Given the description of an element on the screen output the (x, y) to click on. 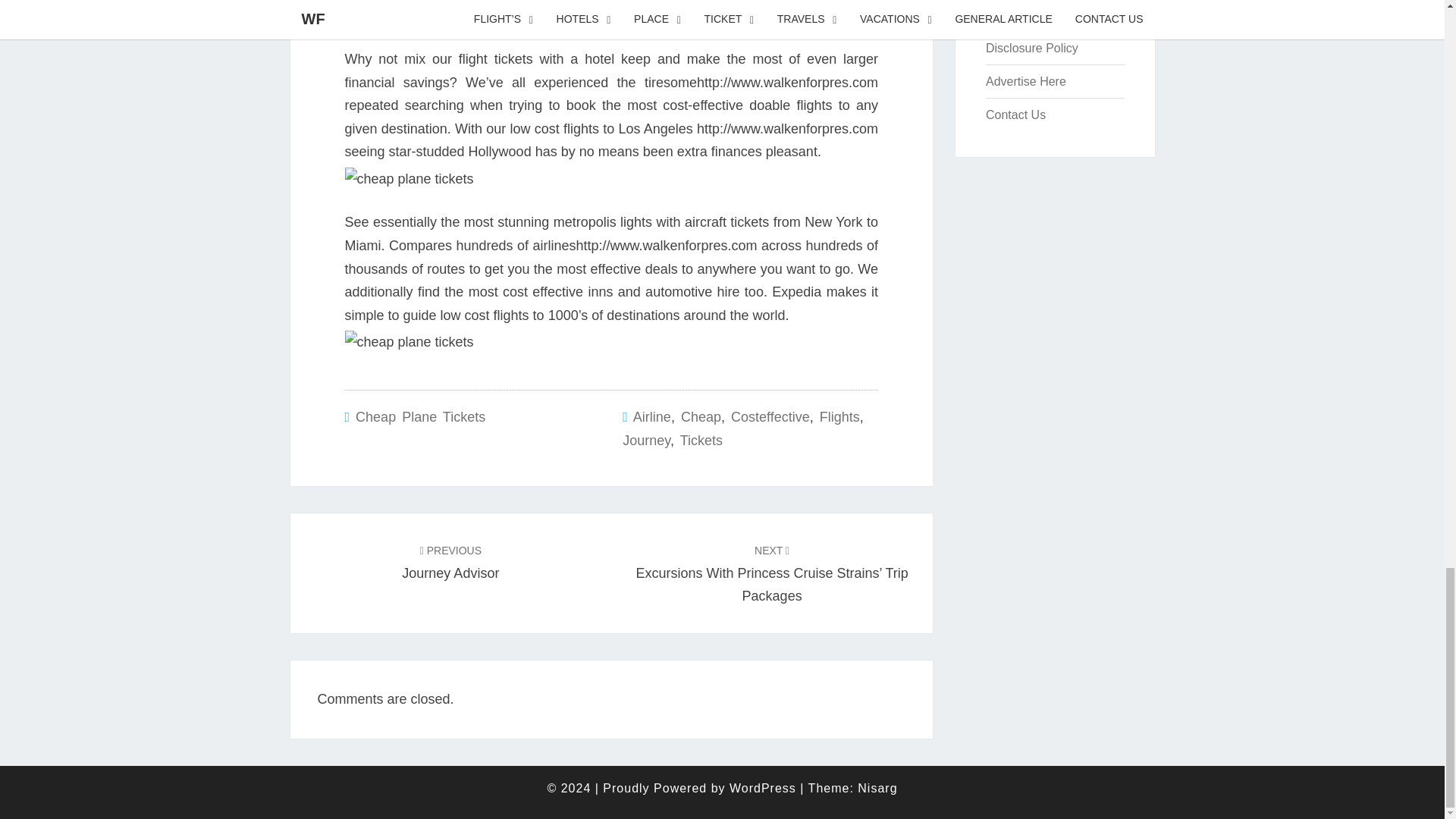
Cheap Plane Tickets (419, 417)
Costeffective (769, 417)
Journey (646, 440)
Flights (839, 417)
Tickets (700, 440)
Cheap (700, 417)
Airline (652, 417)
